Given the description of an element on the screen output the (x, y) to click on. 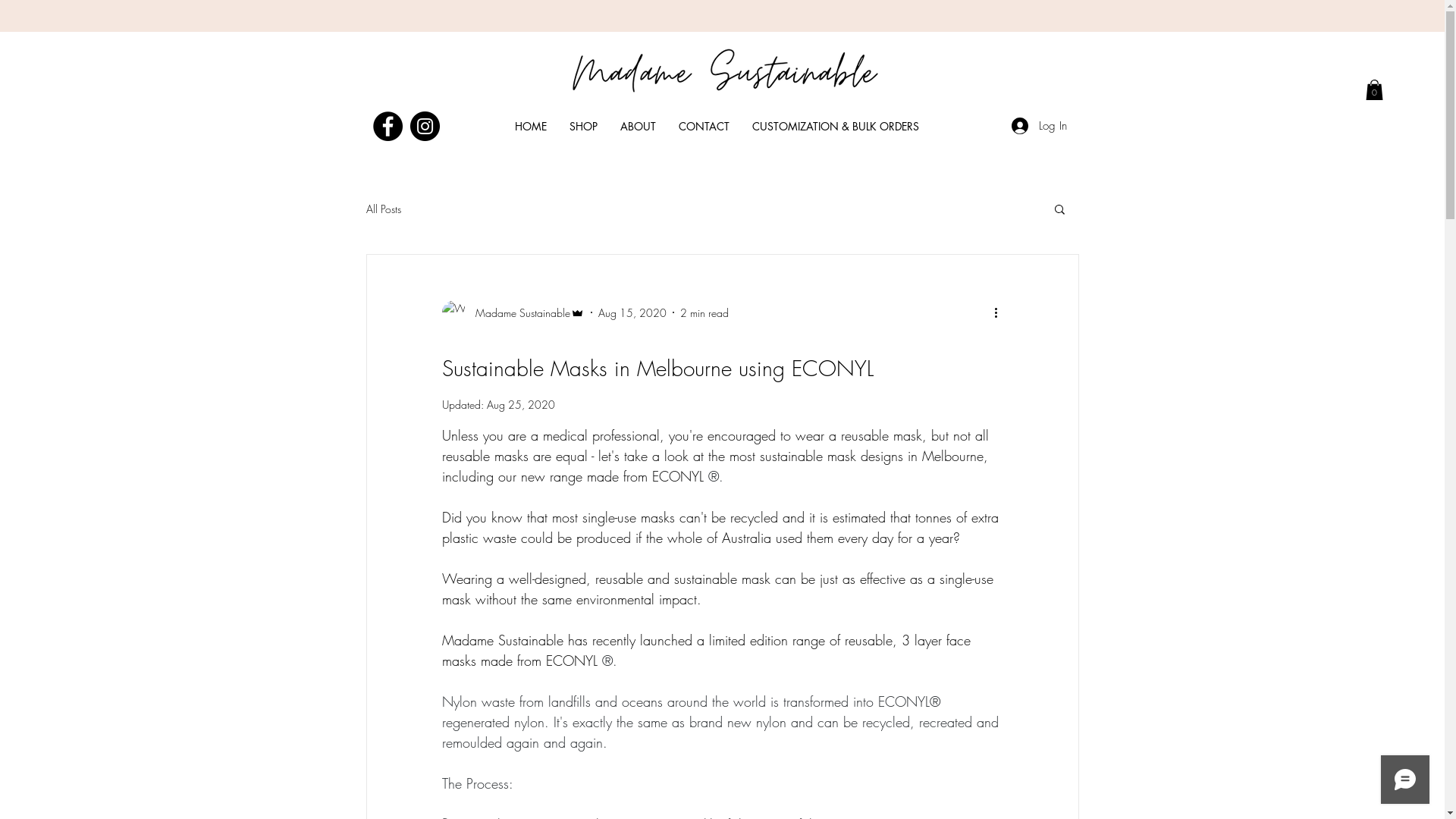
HOME Element type: text (530, 126)
CUSTOMIZATION & BULK ORDERS Element type: text (835, 126)
Madame Sustainable Element type: text (512, 312)
Log In Element type: text (1039, 125)
SHOP Element type: text (583, 126)
0 Element type: text (1374, 89)
ABOUT Element type: text (637, 126)
CONTACT Element type: text (703, 126)
All Posts Element type: text (382, 208)
